Given the description of an element on the screen output the (x, y) to click on. 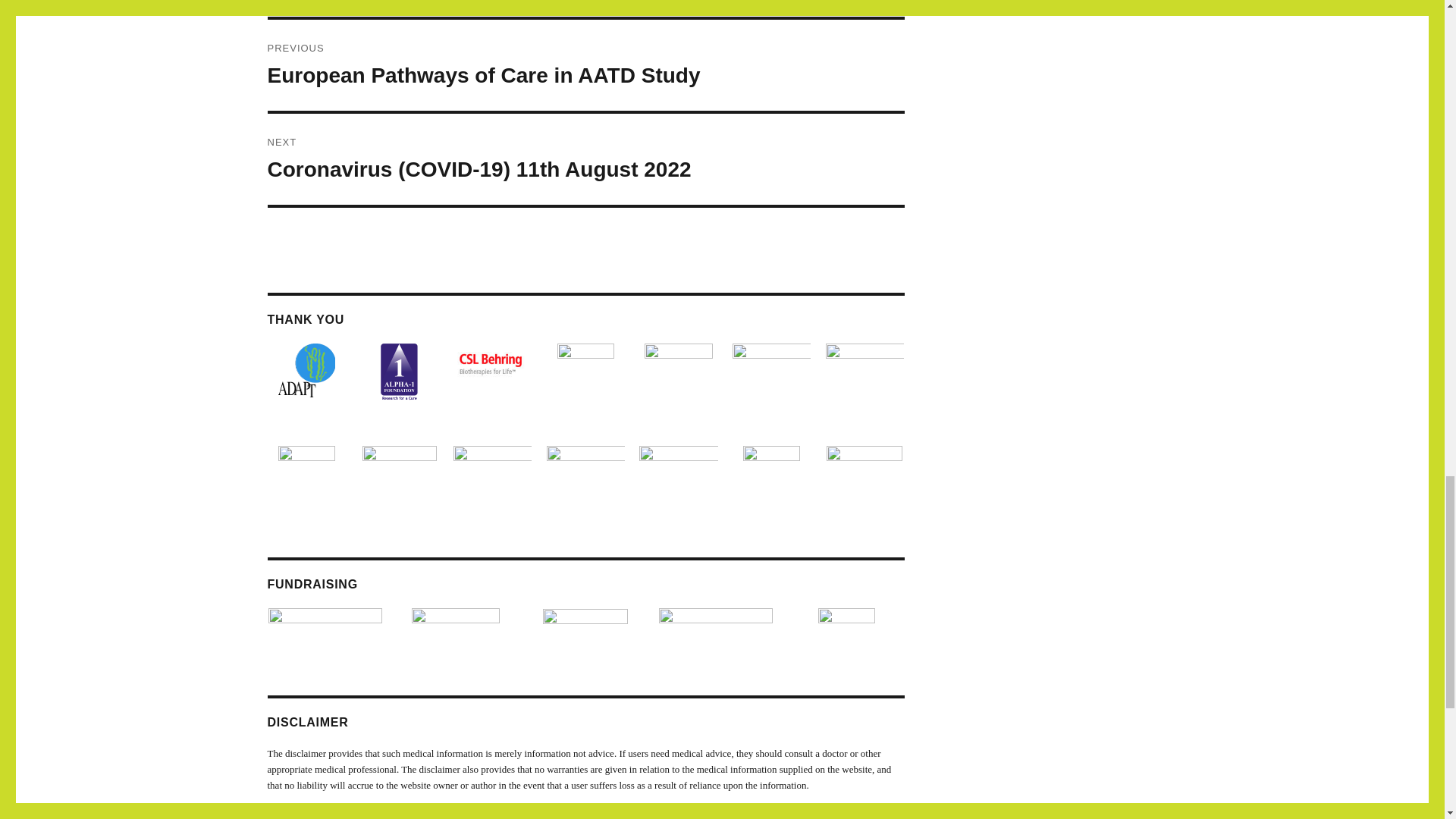
Donate with JustGiving (716, 621)
JustGiving (585, 614)
easysearch.org.uk (455, 619)
easyfundraising.org.uk (324, 620)
ebay for Charity (846, 622)
